Given the description of an element on the screen output the (x, y) to click on. 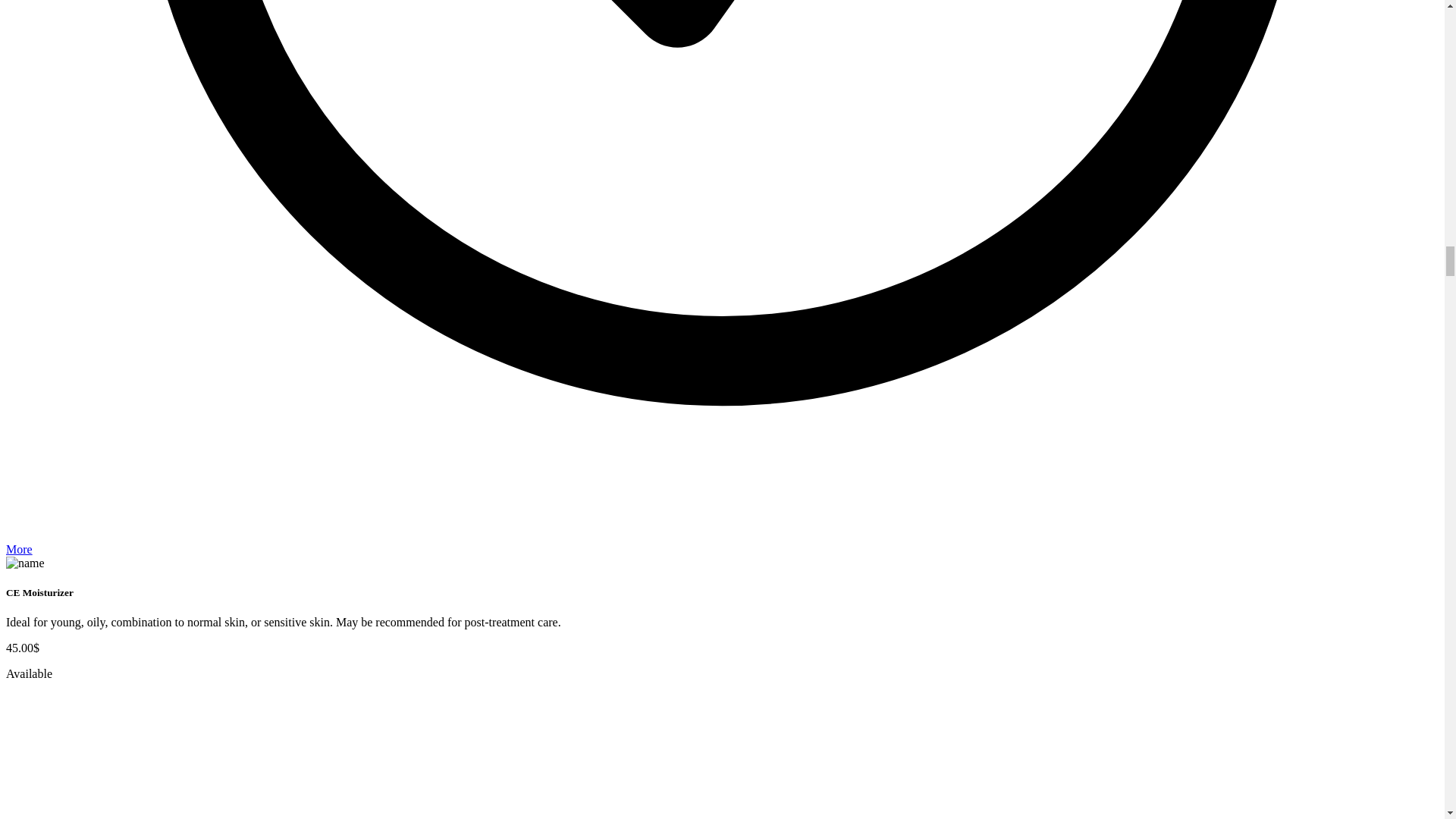
More (18, 549)
